Given the description of an element on the screen output the (x, y) to click on. 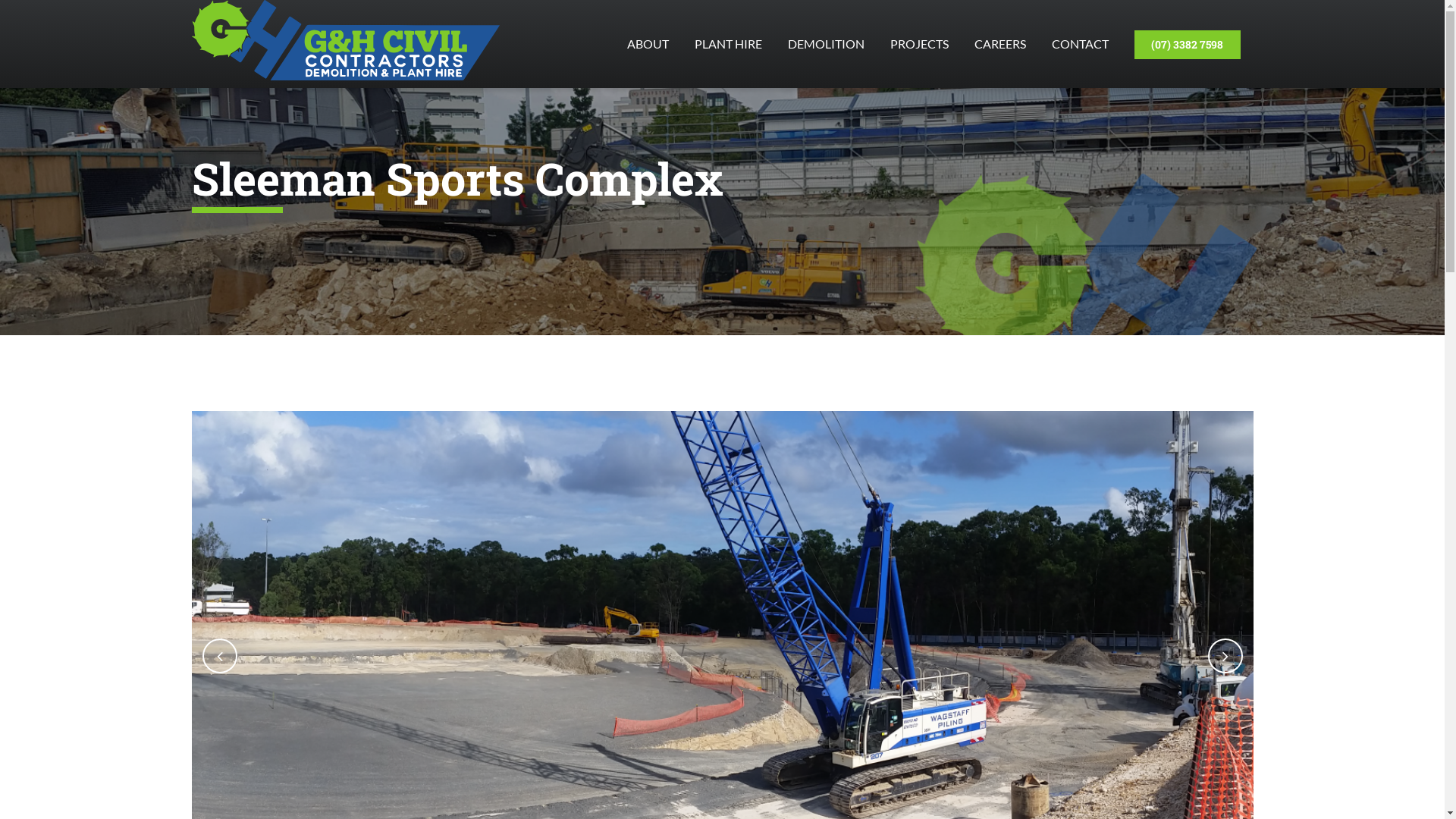
DEMOLITION Element type: text (826, 43)
CONTACT Element type: text (1079, 43)
(07) 3382 7598 Element type: text (1186, 43)
CAREERS Element type: text (999, 43)
PROJECTS Element type: text (918, 43)
ABOUT Element type: text (647, 43)
PLANT HIRE Element type: text (727, 43)
